Given the description of an element on the screen output the (x, y) to click on. 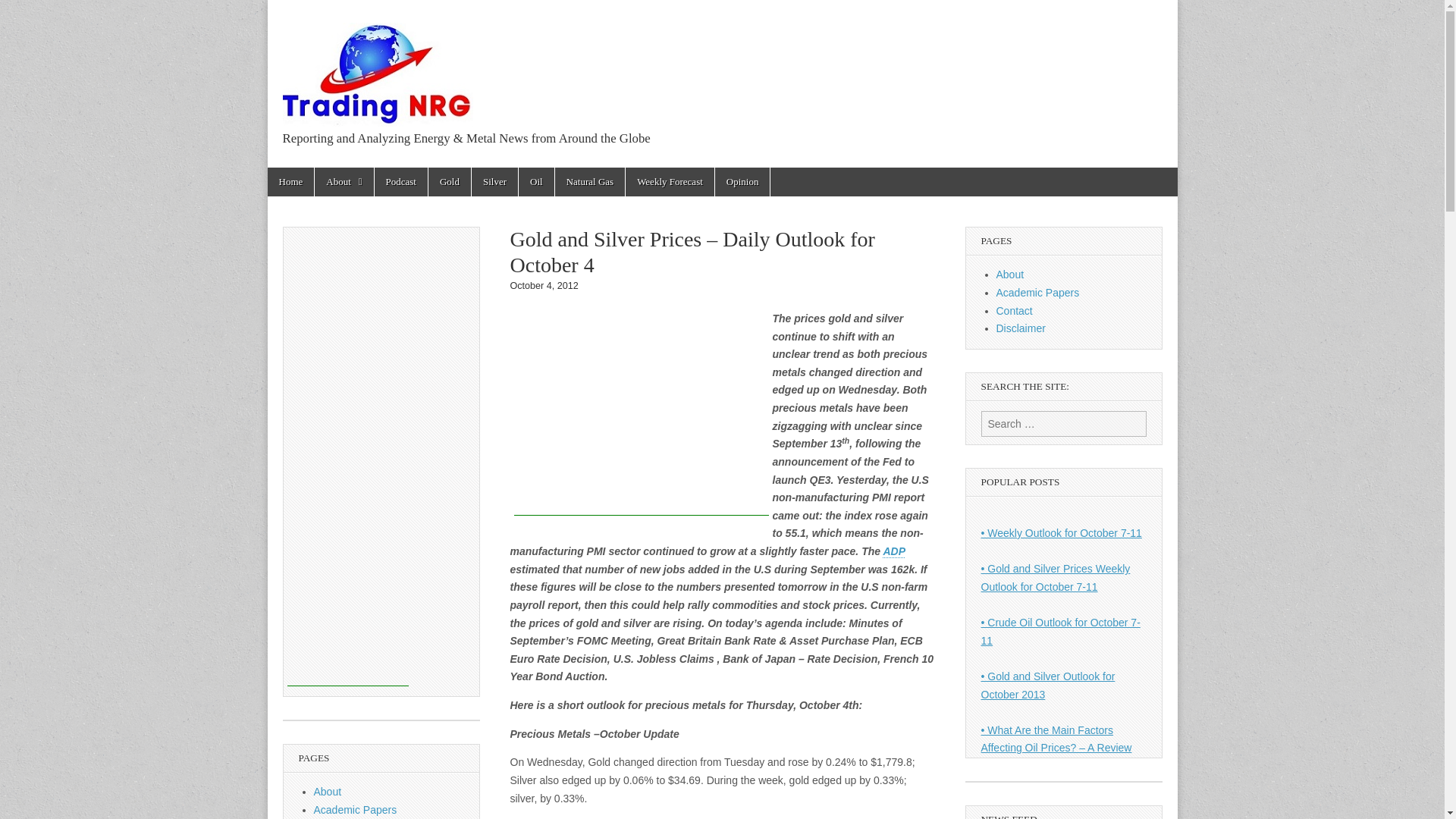
Trading NRG (381, 173)
Podcast New! (401, 181)
About (328, 791)
Natural Gas (589, 181)
Trading NRG (381, 173)
Podcast (401, 181)
Trading NRG (376, 66)
ADP (893, 551)
Opinion (742, 181)
Weekly Forecast (670, 181)
Oil (536, 181)
Home (290, 181)
Academic Papers (355, 809)
About (343, 181)
